Given the description of an element on the screen output the (x, y) to click on. 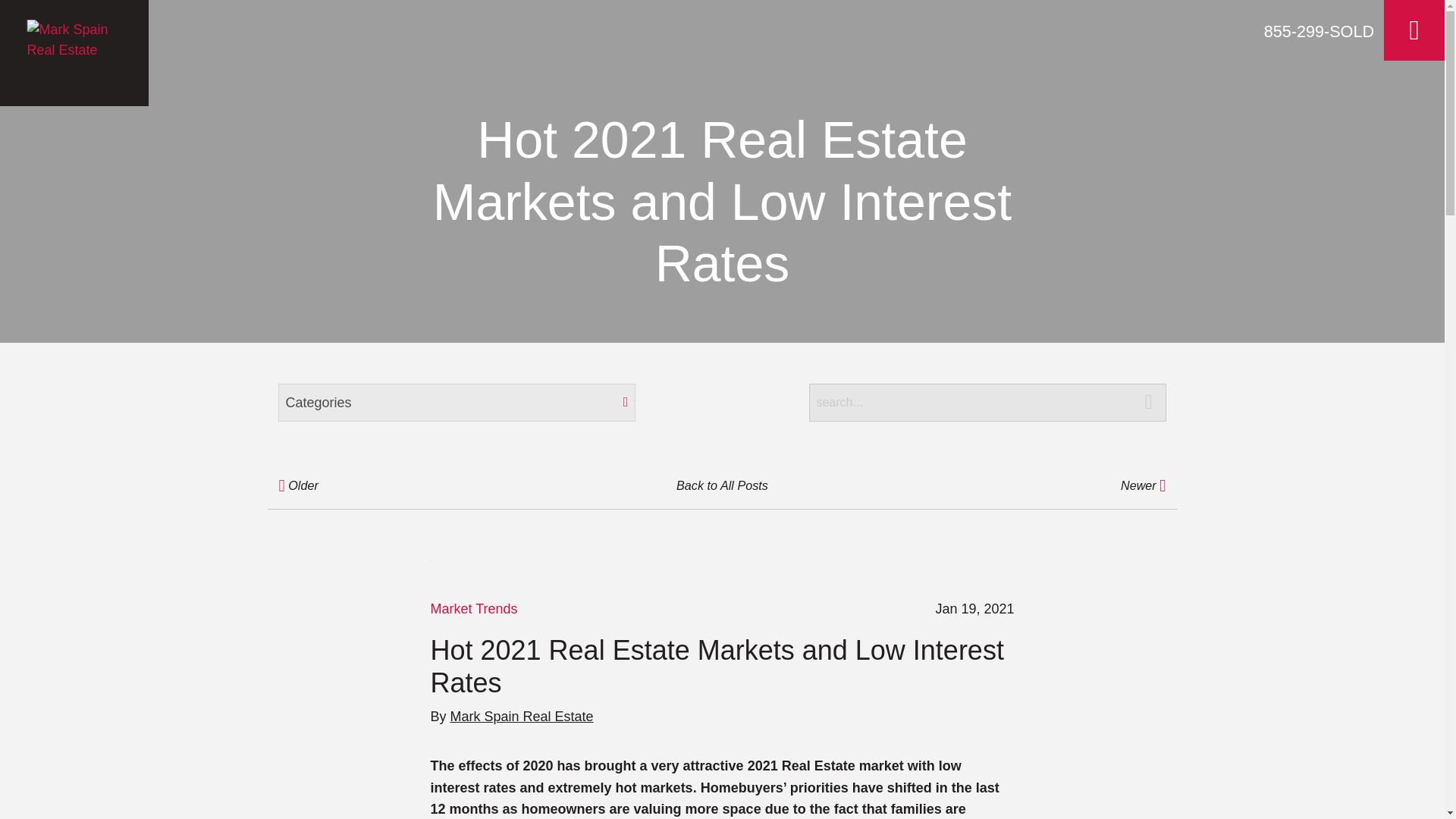
Market Trends (472, 608)
855-299-SOLD (1318, 31)
Back to All Posts (720, 484)
Older (418, 485)
Mark Spain Real Estate (521, 716)
Newer (1025, 485)
